Given the description of an element on the screen output the (x, y) to click on. 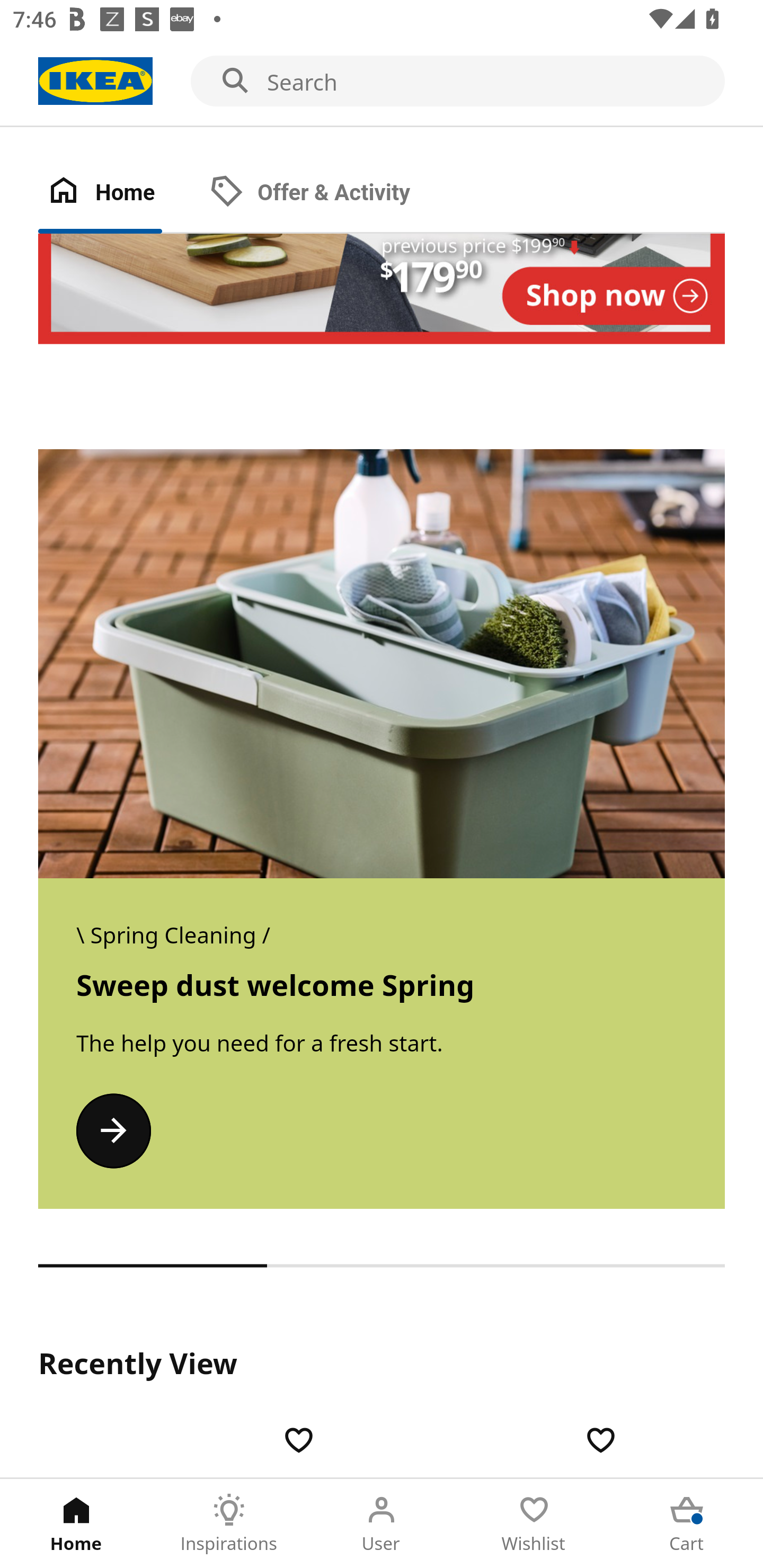
Search (381, 81)
Home
Tab 1 of 2 (118, 192)
Offer & Activity
Tab 2 of 2 (327, 192)
Home
Tab 1 of 5 (76, 1522)
Inspirations
Tab 2 of 5 (228, 1522)
User
Tab 3 of 5 (381, 1522)
Wishlist
Tab 4 of 5 (533, 1522)
Cart
Tab 5 of 5 (686, 1522)
